Given the description of an element on the screen output the (x, y) to click on. 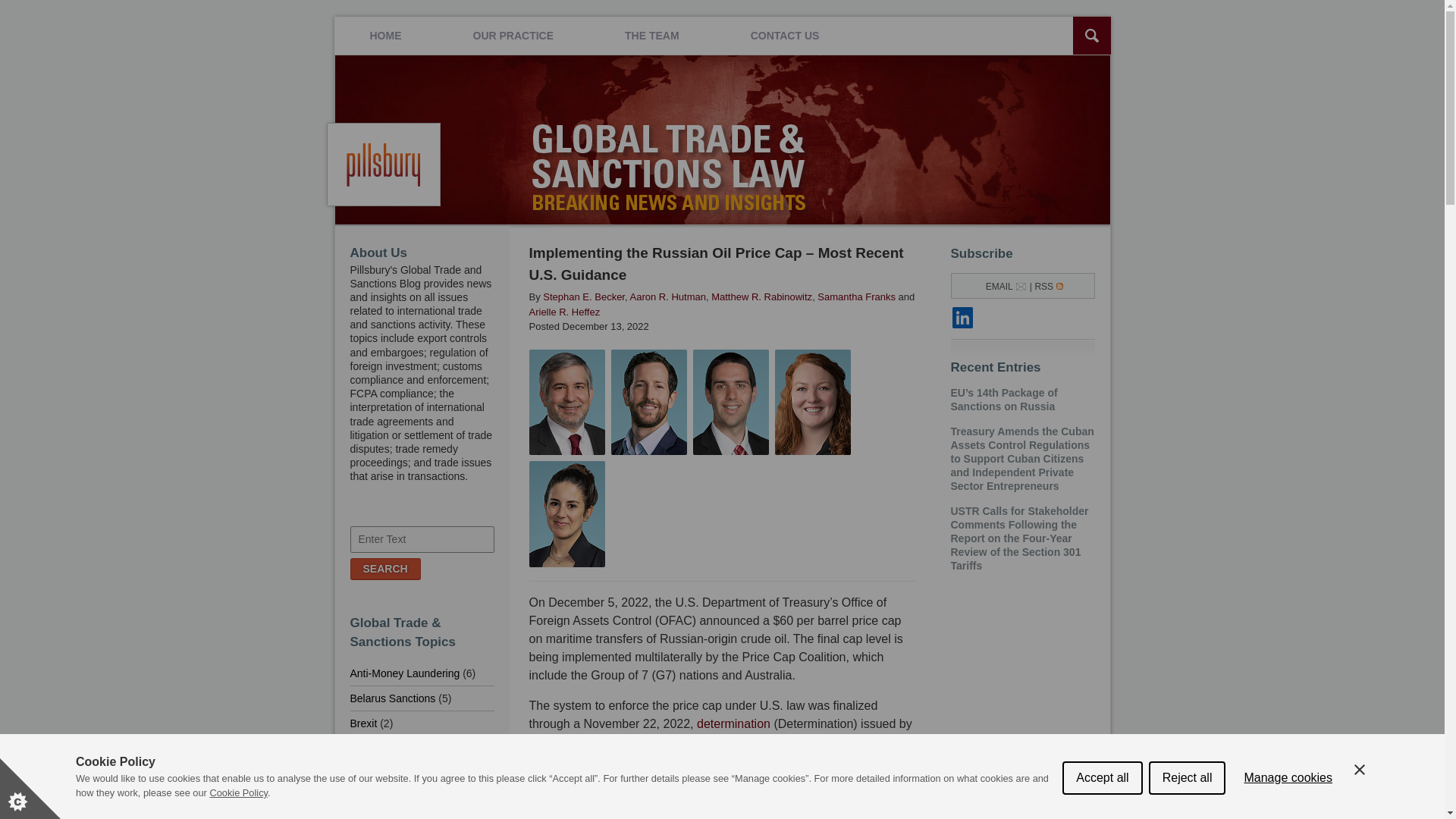
LinkedIn (962, 317)
THE TEAM (651, 35)
Matthew R. Rabinowitz (761, 296)
Published By Pillsbury Winthrop Shaw Pittman LLP (383, 164)
Stephan E. Becker (583, 296)
Stephan E. Becker (567, 401)
Stephan E. Becker (812, 401)
Reject all (1186, 815)
CONTACT US (785, 35)
Stephan E. Becker (730, 401)
HOME (384, 35)
Stephan E. Becker (567, 514)
OUR PRACTICE (512, 35)
Aaron R. Hutman (666, 296)
Manage cookies (1287, 812)
